Given the description of an element on the screen output the (x, y) to click on. 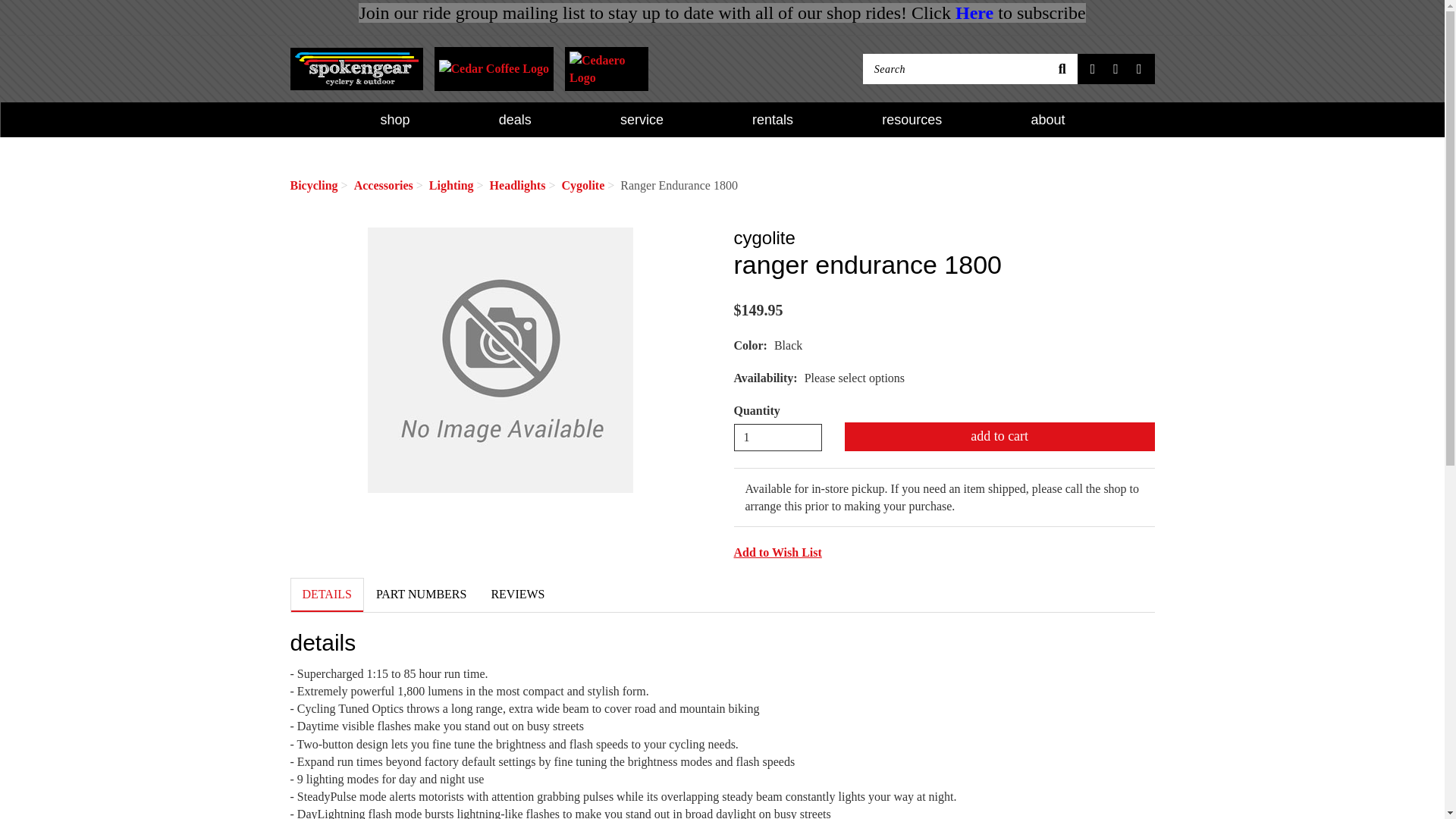
Cart (1138, 69)
Account (1114, 69)
Cart (1138, 69)
Store (1093, 69)
Join Our Ride Group (973, 12)
1 (777, 437)
Spokengear Cyclery Home Page (355, 68)
Account (1114, 69)
search (1061, 69)
shop (395, 119)
Store (1093, 69)
Here (973, 12)
Search (954, 69)
